Given the description of an element on the screen output the (x, y) to click on. 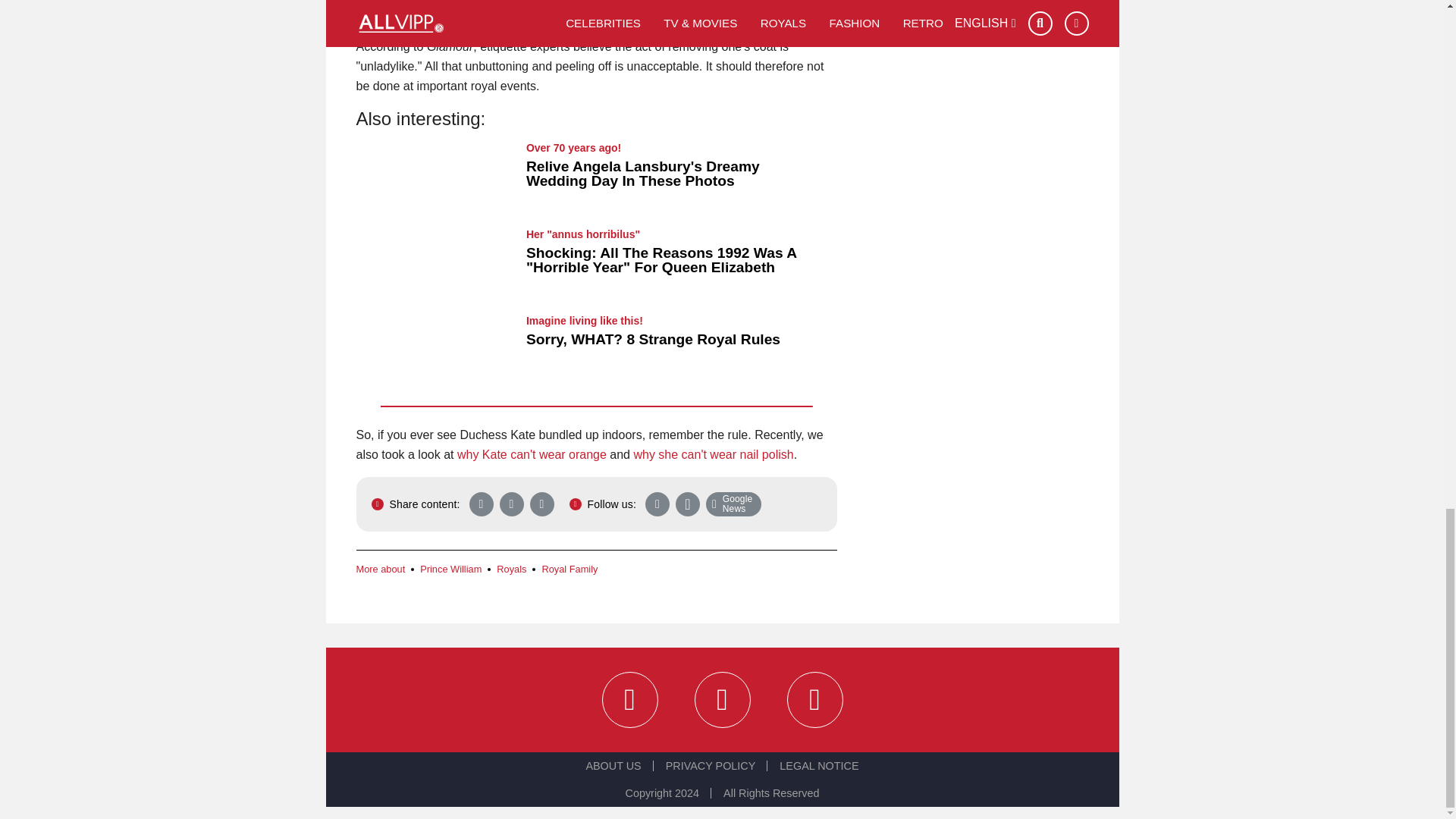
why she can't wear nail polish (713, 454)
Relive Angela Lansbury's Dreamy Wedding Day In These Photos (642, 173)
why Kate can't wear orange (532, 454)
Sorry, WHAT? 8 Strange Royal Rules (652, 339)
